Given the description of an element on the screen output the (x, y) to click on. 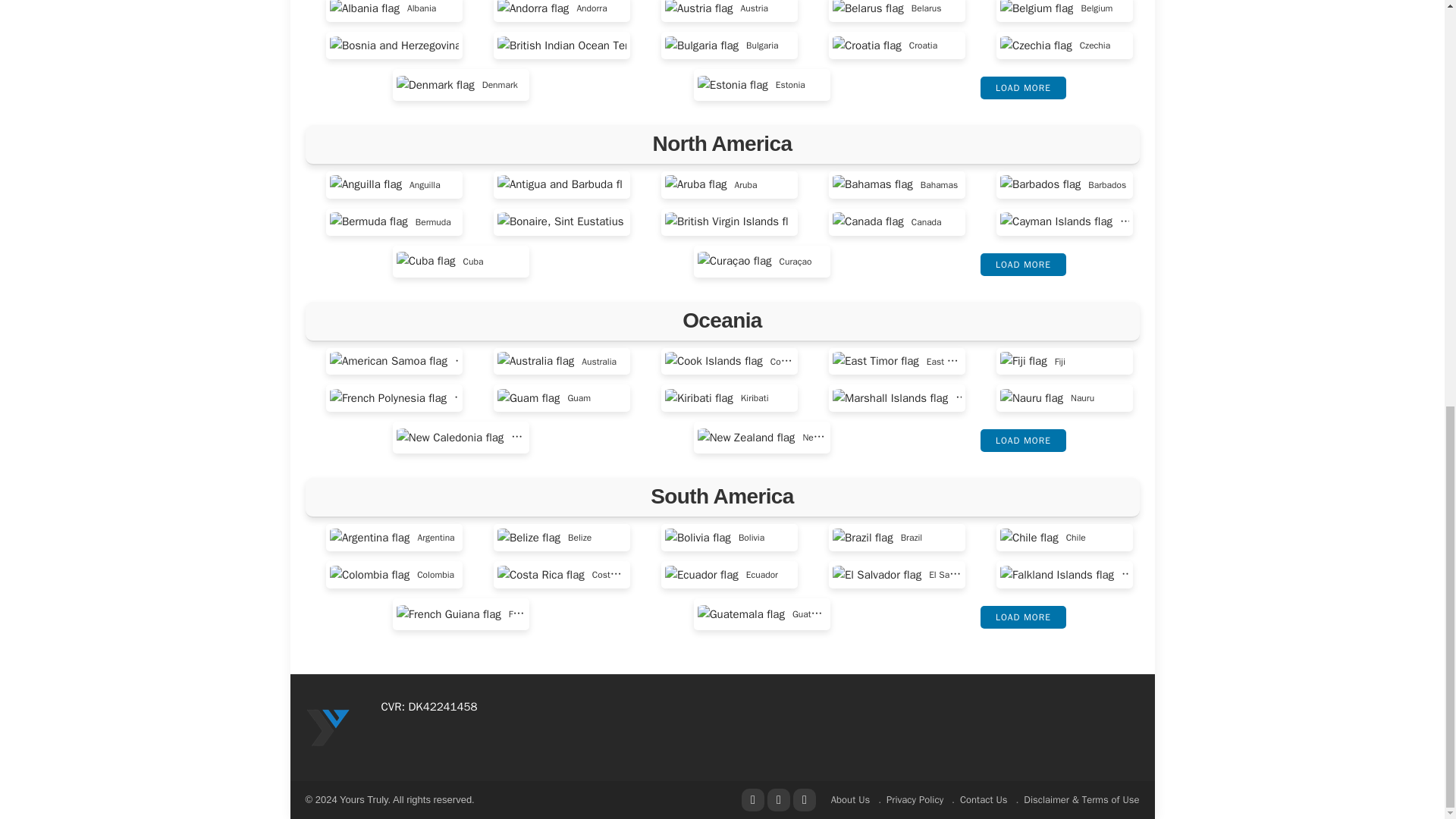
facebook (752, 799)
instagram (804, 799)
Yours Truly (327, 726)
twitter (778, 799)
